Given the description of an element on the screen output the (x, y) to click on. 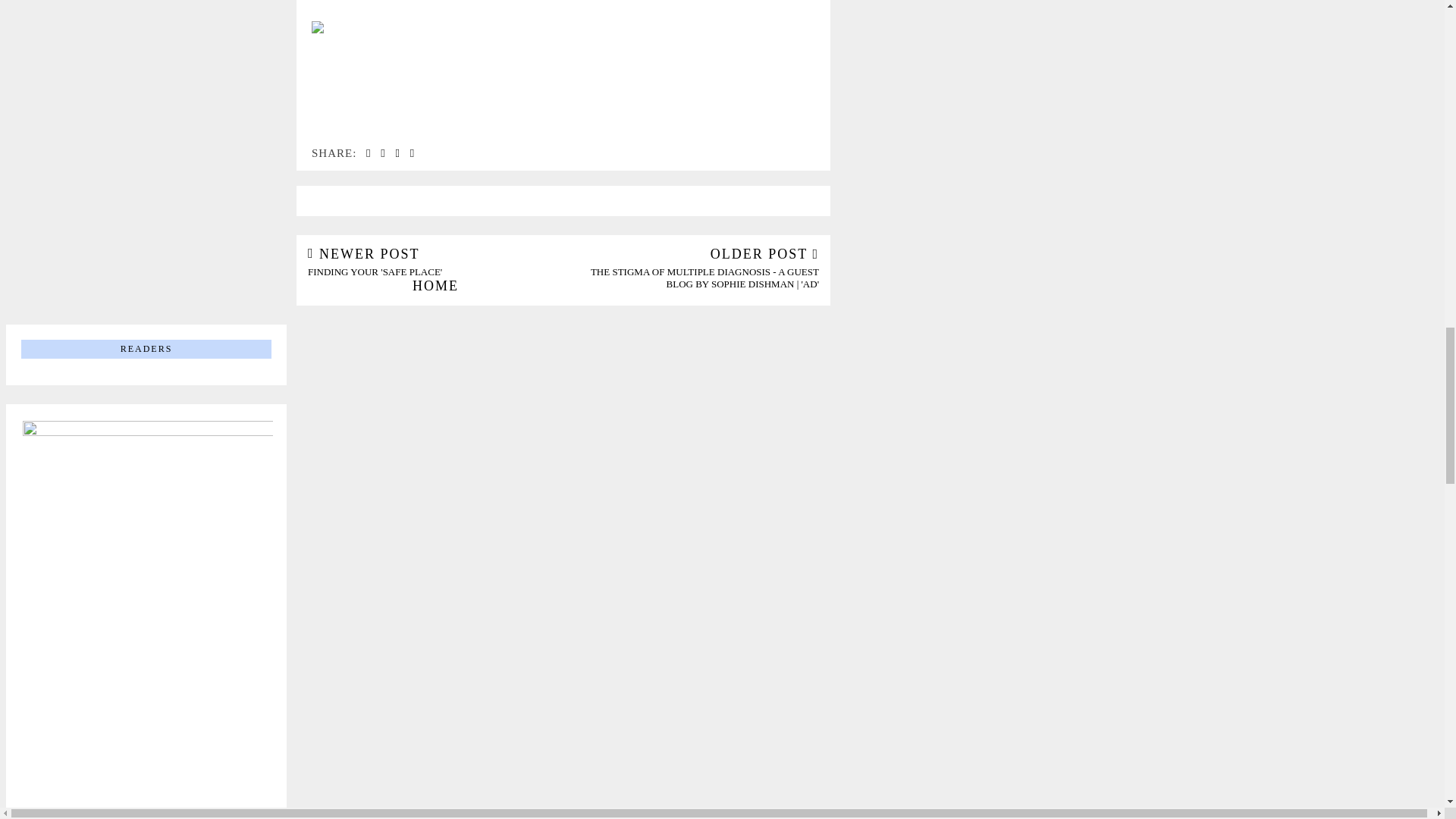
Newer Post (435, 262)
HOME (435, 285)
Older Post (435, 262)
